Given the description of an element on the screen output the (x, y) to click on. 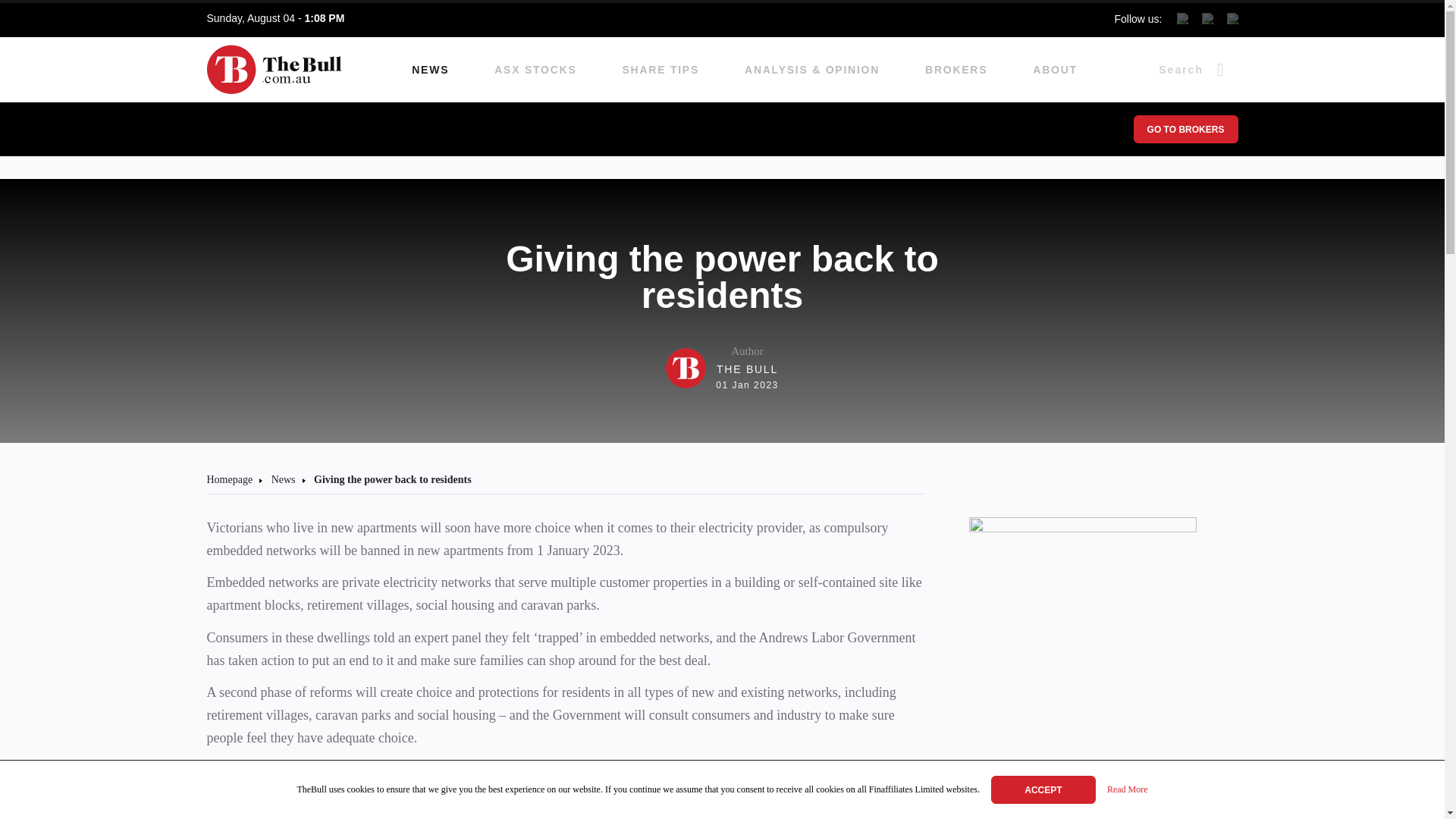
GO TO BROKERS (1184, 129)
NEWS (430, 69)
SHARE TIPS (661, 69)
Read More (1127, 789)
ACCEPT (1043, 789)
BROKERS (721, 367)
Homepage (955, 69)
News (228, 479)
ABOUT (282, 479)
ASX STOCKS (1054, 69)
